Given the description of an element on the screen output the (x, y) to click on. 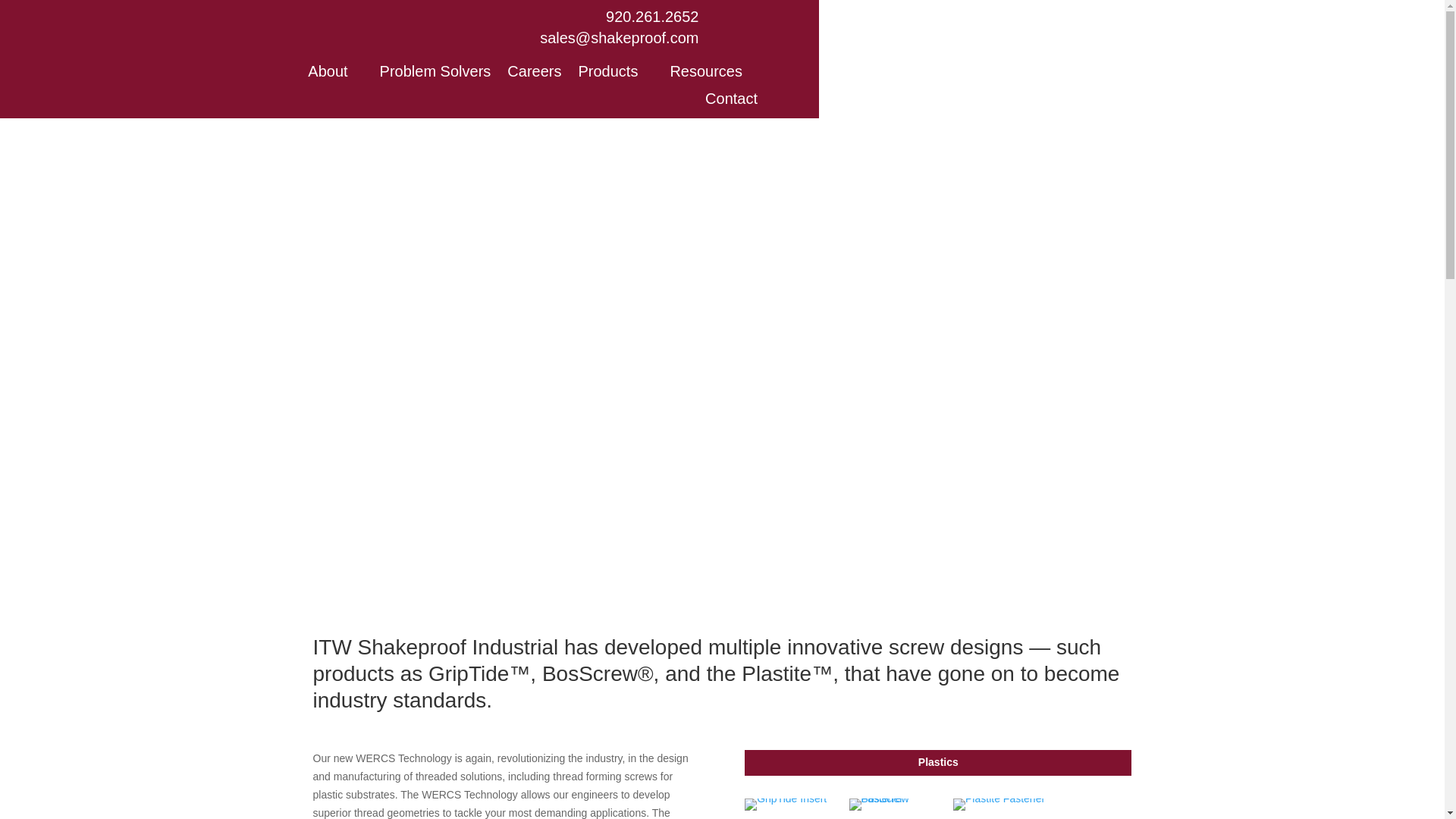
ITW Shakeproof Industrial Instagram page (504, 37)
About (334, 74)
ITW Industrial Problem Solutions (436, 74)
Problem Solvers (436, 74)
ITW Shakeproof Industrial LinkedIn page (479, 37)
ITW-Logo (101, 42)
ITW Shakeproof Industrial Facebook page (434, 37)
Career at ITW Shakeproof (533, 74)
About ITW Shakeproof Industrial (334, 74)
Careers (533, 74)
Products (615, 74)
Industrial Products (615, 74)
920.261.2652 (651, 16)
ITW Shakeproof Industrial Youtube page (455, 37)
